Given the description of an element on the screen output the (x, y) to click on. 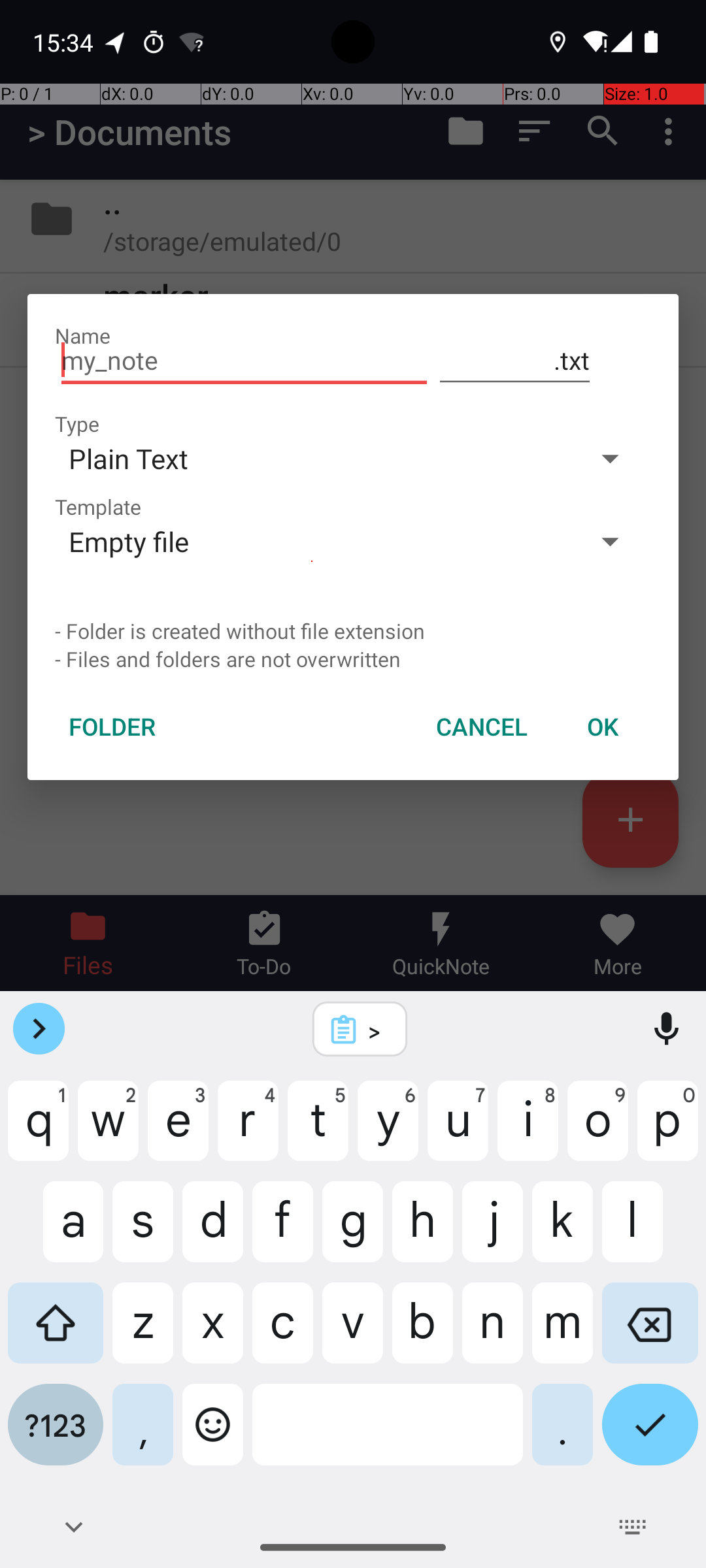
.txt Element type: android.widget.EditText (514, 360)
>  Element type: android.widget.TextView (377, 1029)
